Given the description of an element on the screen output the (x, y) to click on. 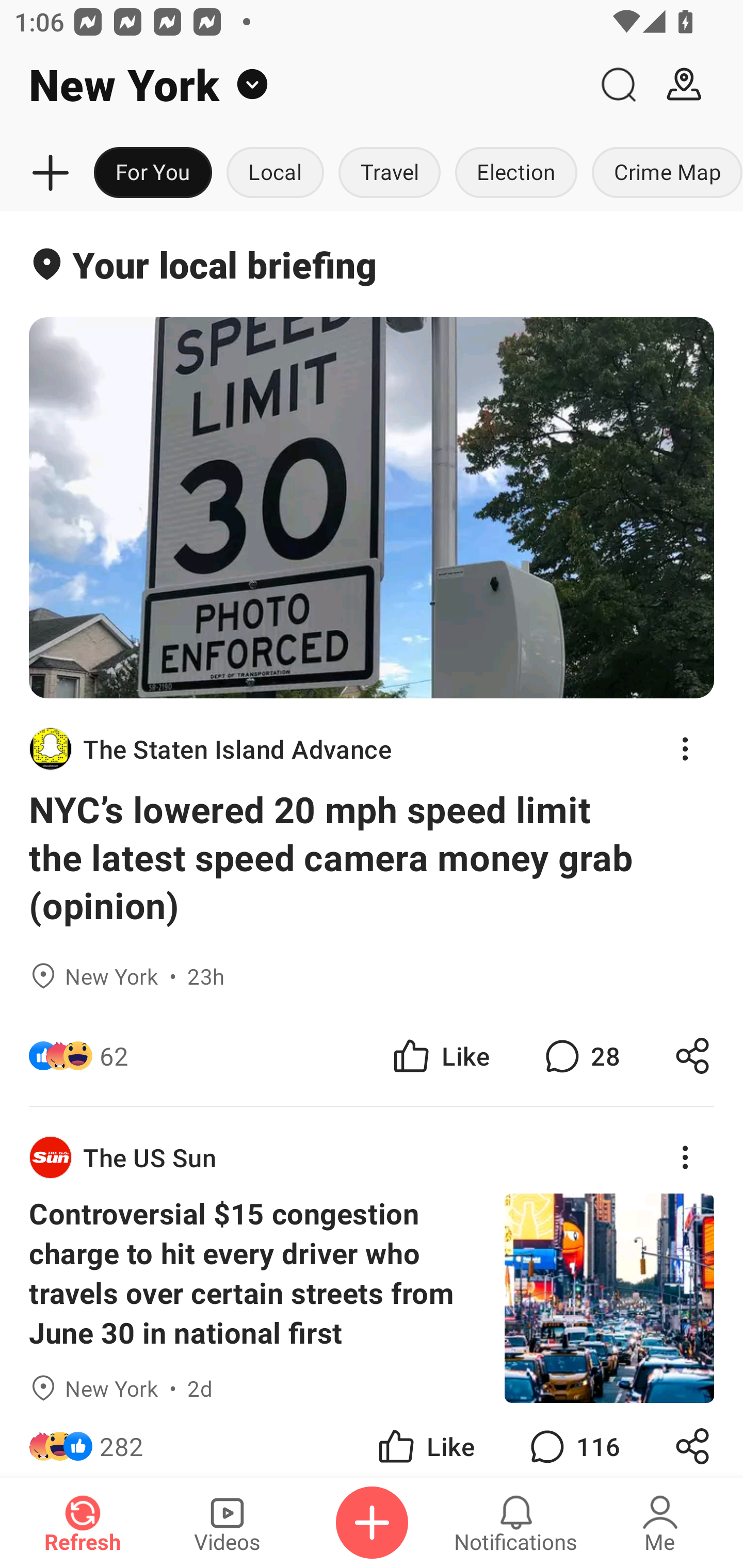
New York (292, 84)
For You (152, 172)
Local (275, 172)
Travel (389, 172)
Election (516, 172)
Crime Map (663, 172)
62 (113, 1055)
Like (439, 1055)
28 (579, 1055)
282 (121, 1440)
Like (425, 1440)
116 (572, 1440)
Videos (227, 1522)
Notifications (516, 1522)
Me (659, 1522)
